Given the description of an element on the screen output the (x, y) to click on. 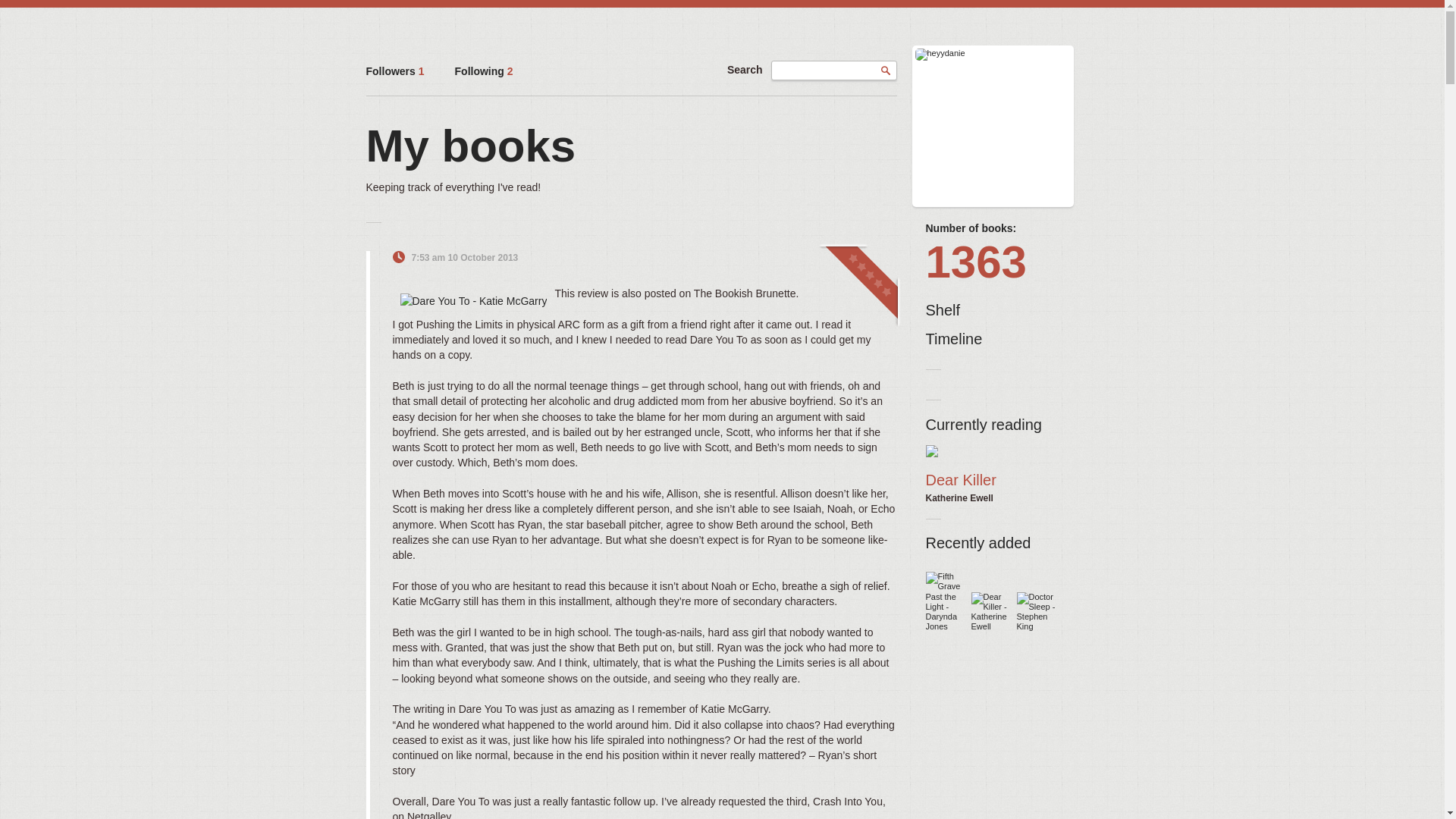
Following 2 (483, 70)
Followers 1 (394, 70)
7:53 am 10 October 2013 (464, 257)
Tweet (849, 257)
My books (470, 145)
